Given the description of an element on the screen output the (x, y) to click on. 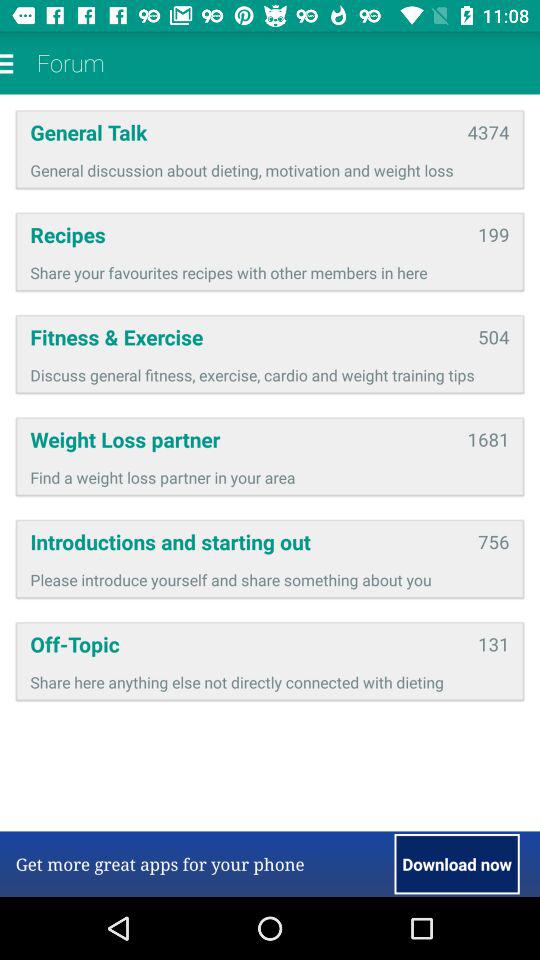
press app above share your favourites icon (493, 234)
